Given the description of an element on the screen output the (x, y) to click on. 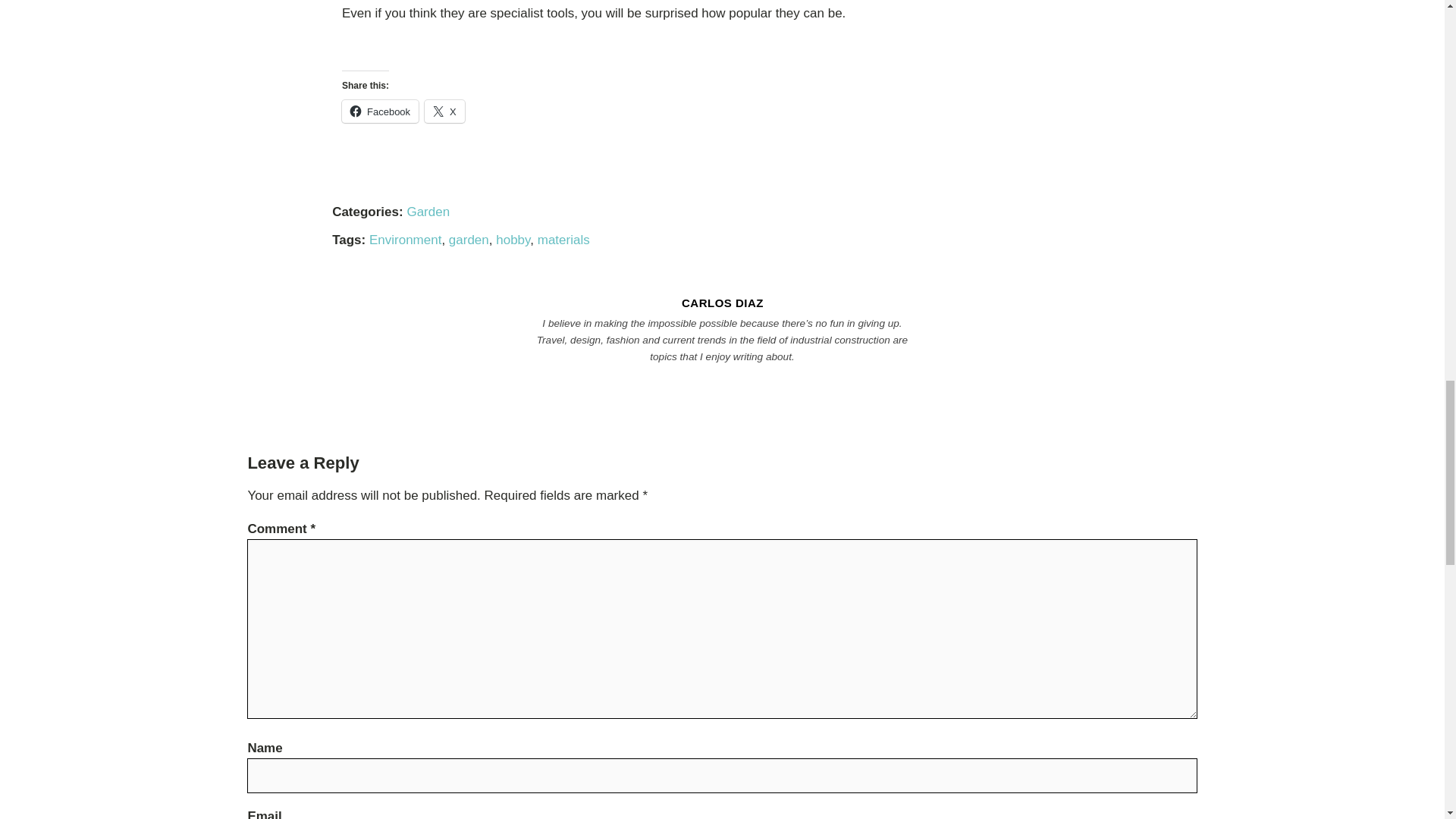
Click to share on X (444, 110)
Click to share on Facebook (380, 110)
